Given the description of an element on the screen output the (x, y) to click on. 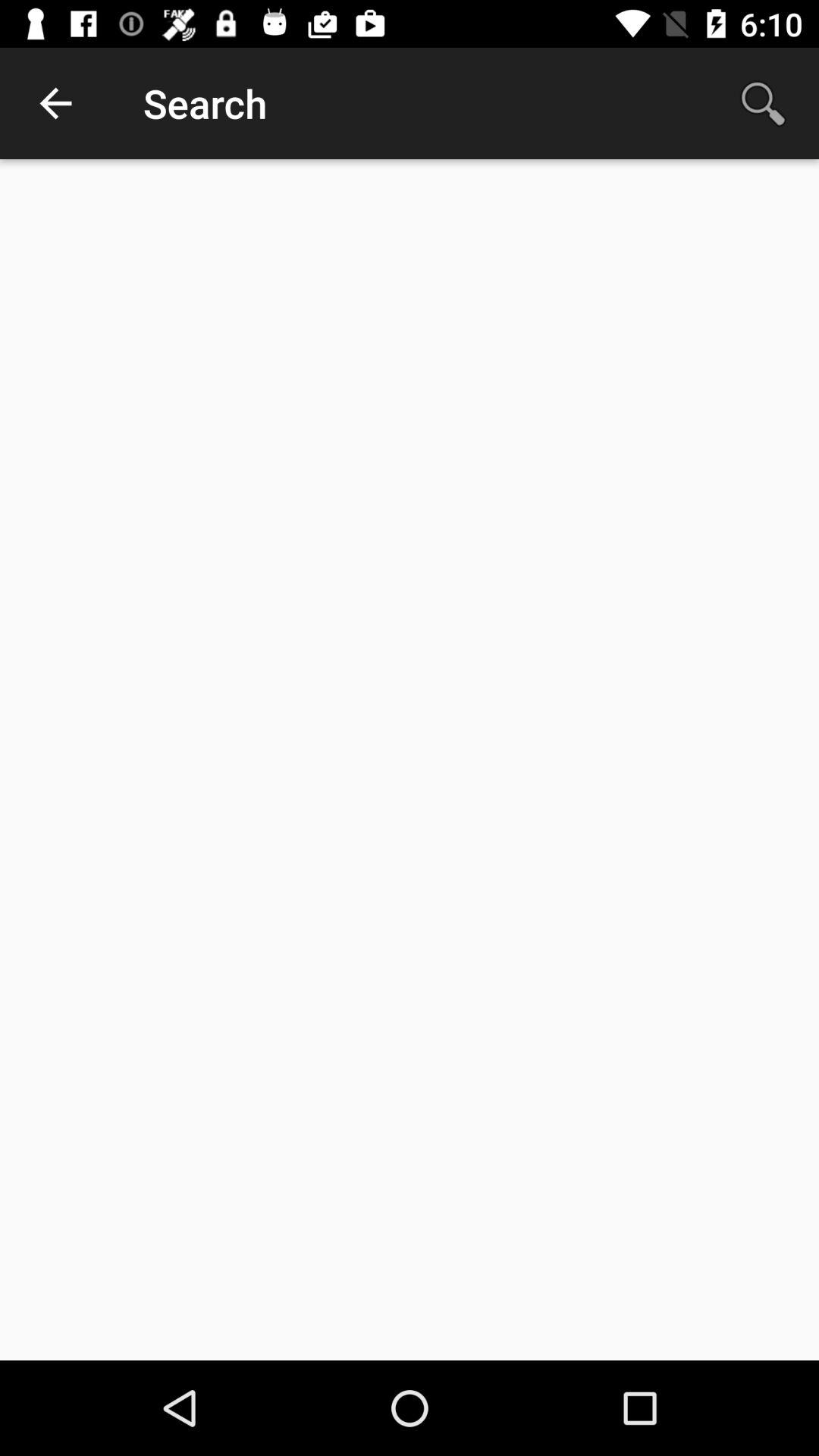
turn on item next to the search (55, 103)
